Given the description of an element on the screen output the (x, y) to click on. 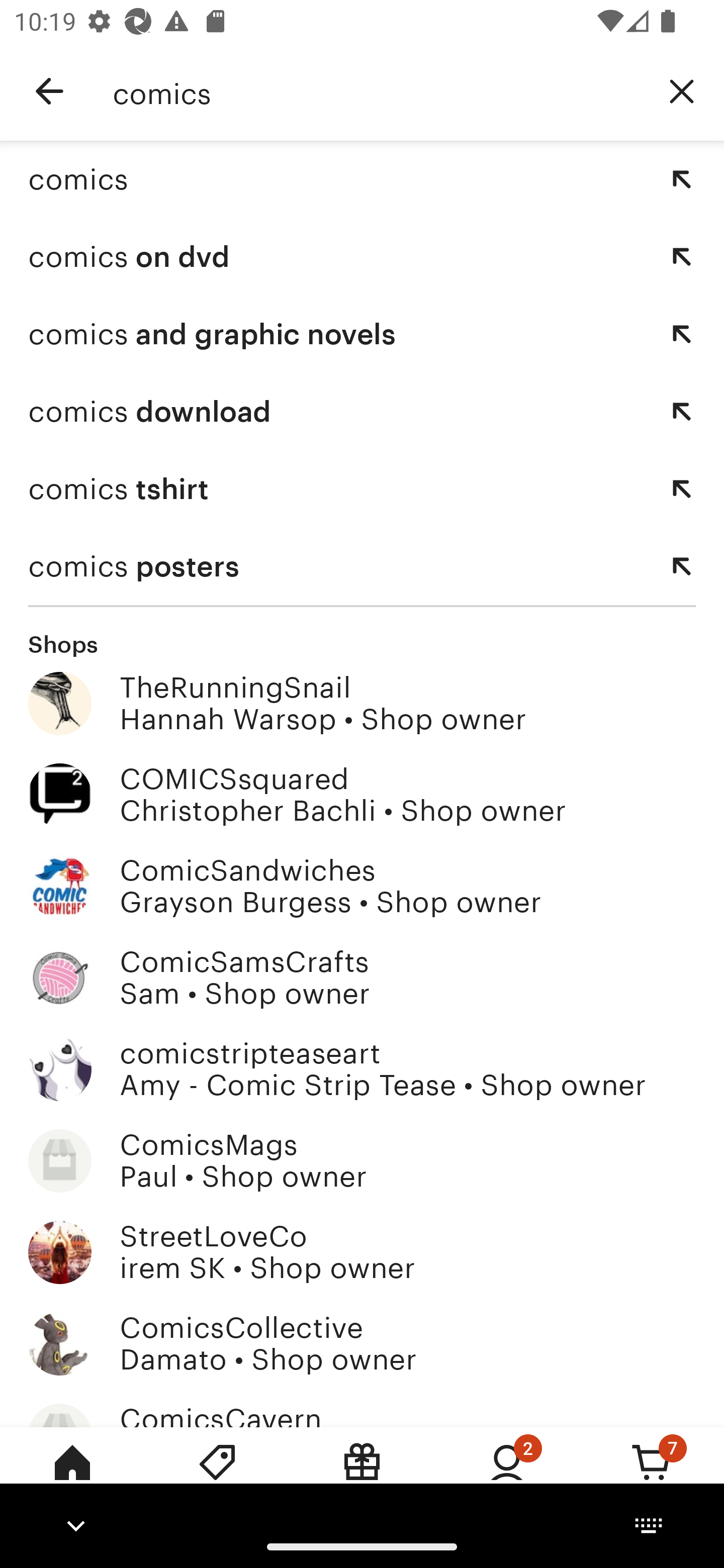
Navigate up (49, 91)
Clear query (681, 90)
comics (375, 91)
Populate the search field with comics suggestion (681, 179)
Deals (216, 1475)
Gift Mode (361, 1475)
You, 2 new notifications (506, 1475)
Cart, 7 new notifications (651, 1475)
